Given the description of an element on the screen output the (x, y) to click on. 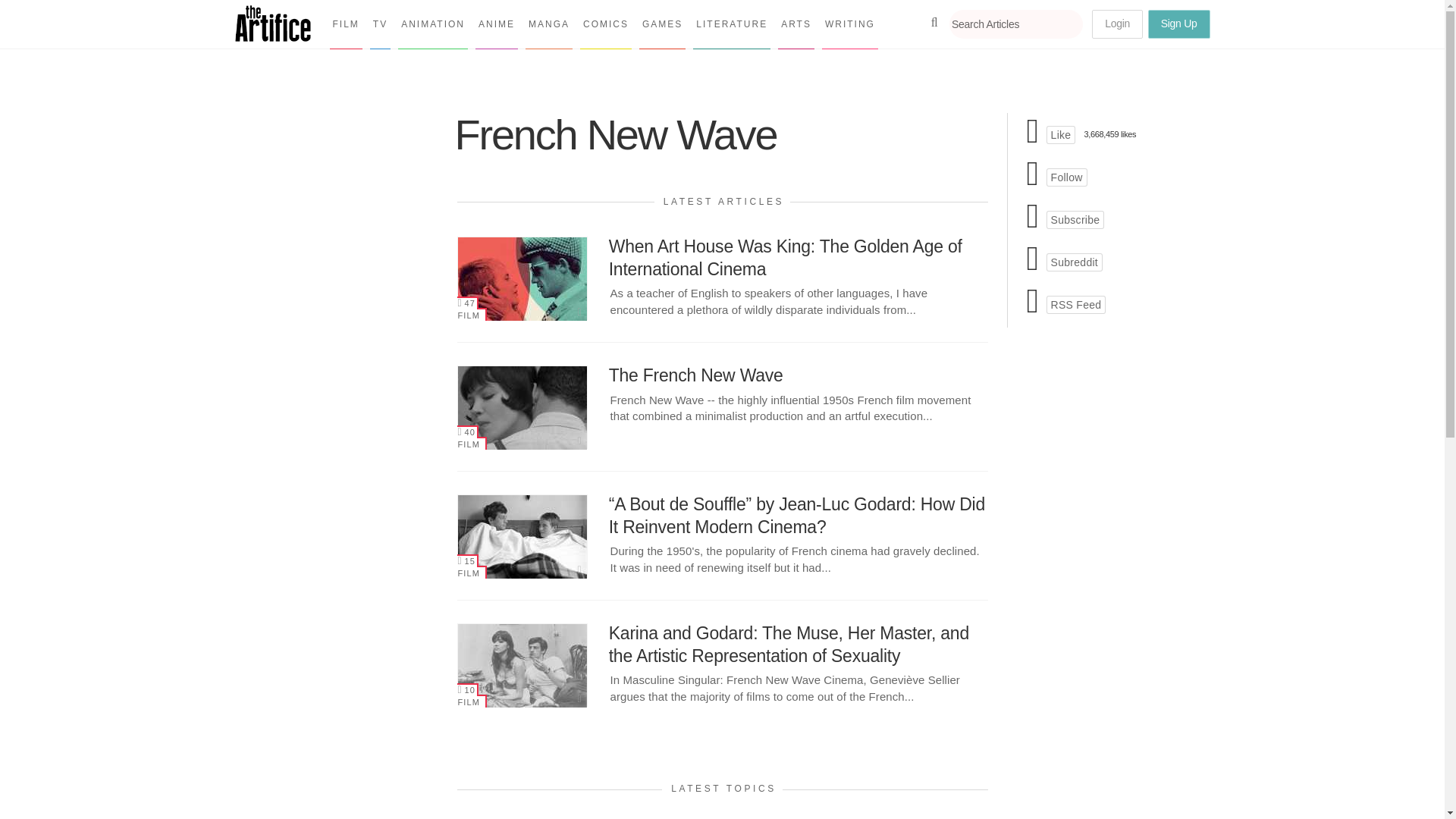
47 (468, 302)
Login (1117, 23)
ANIMATION (432, 24)
Sign Up (1178, 23)
Subscribe to The Artifice (1075, 219)
COMICS (605, 24)
MANGA (548, 24)
The Artifice (272, 37)
The Artifice on Facebook (1060, 135)
